Given the description of an element on the screen output the (x, y) to click on. 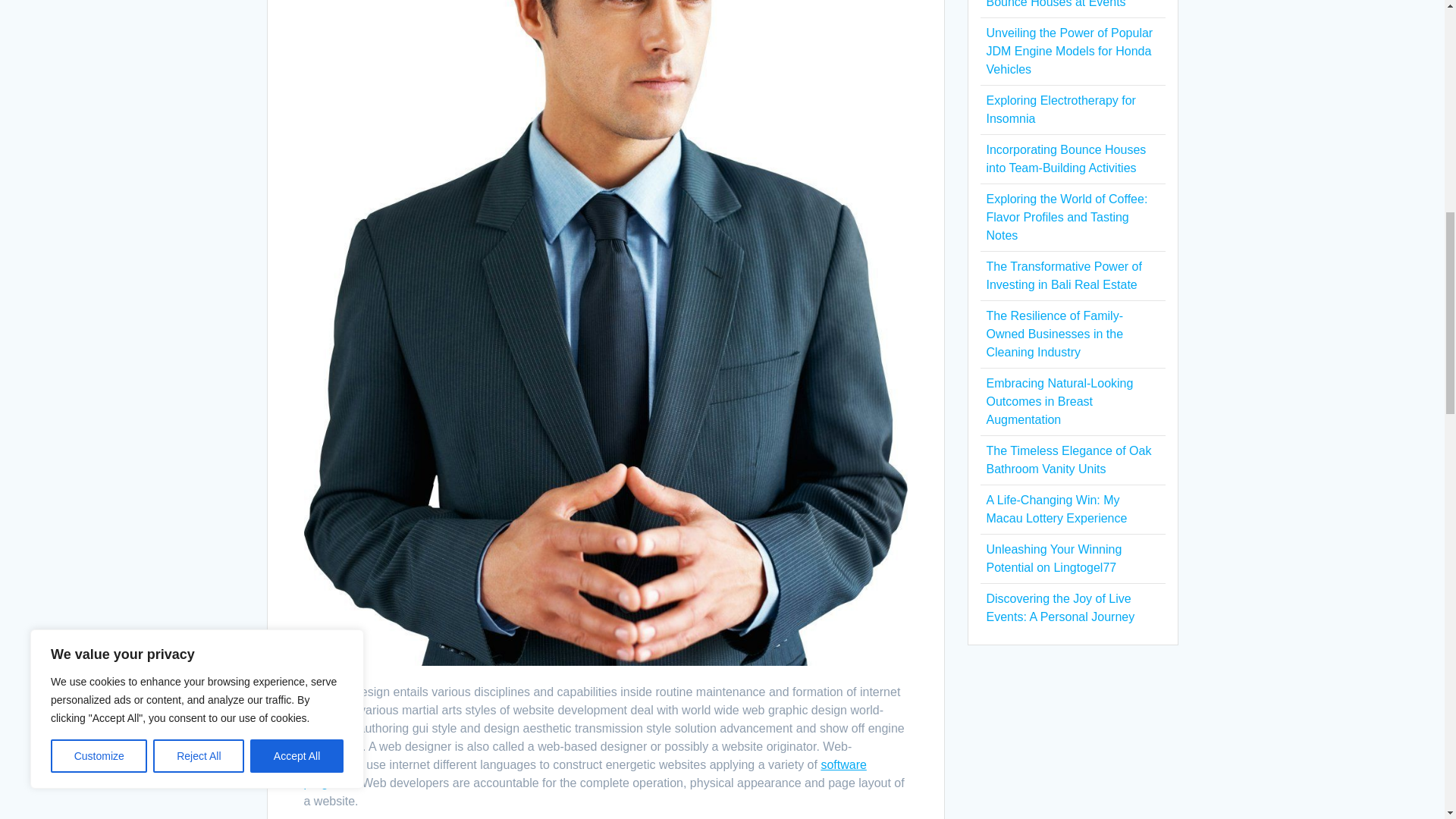
software programs (584, 773)
Incorporating Bounce Houses into Team-Building Activities (1065, 158)
Exploring Electrotherapy for Insomnia (1060, 109)
Safe Bouncing: Tips for Using Bounce Houses at Events (1065, 4)
